Given the description of an element on the screen output the (x, y) to click on. 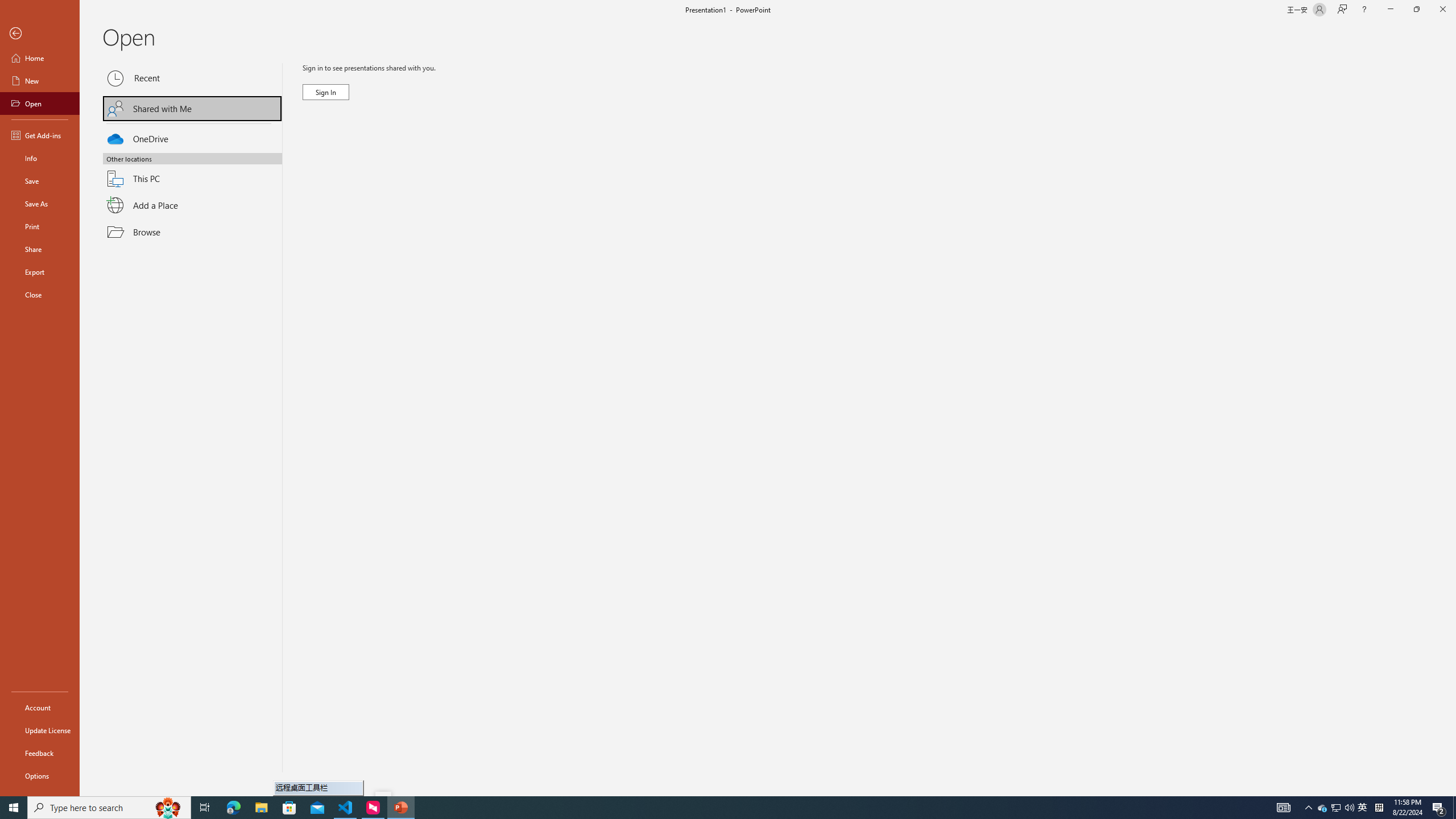
Export (40, 271)
Recent (192, 78)
Shared with Me (192, 108)
Browse (192, 231)
Options (40, 775)
Get Add-ins (40, 134)
New (40, 80)
This PC (192, 171)
